Given the description of an element on the screen output the (x, y) to click on. 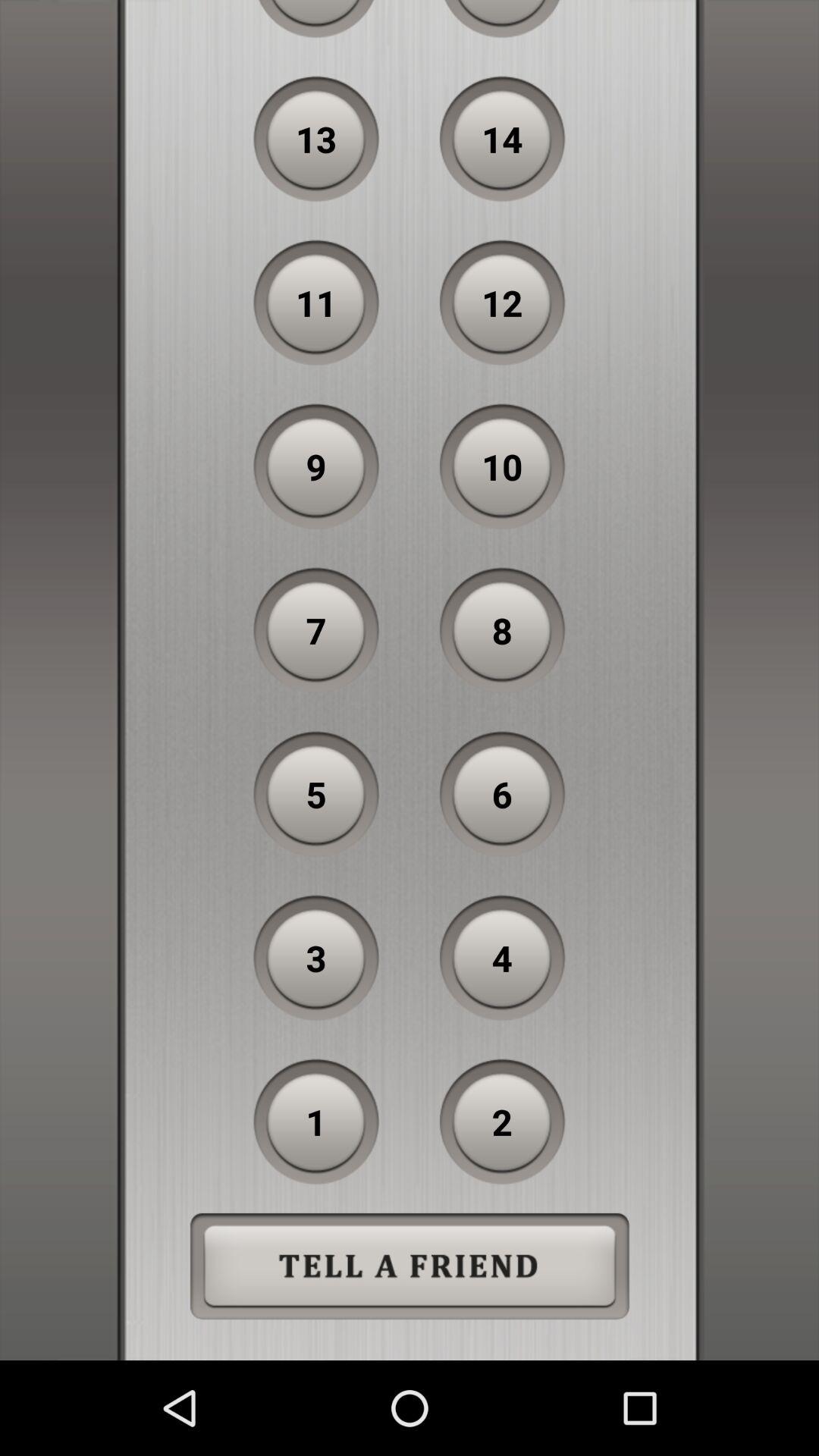
turn off button to the right of the 5 (502, 794)
